Given the description of an element on the screen output the (x, y) to click on. 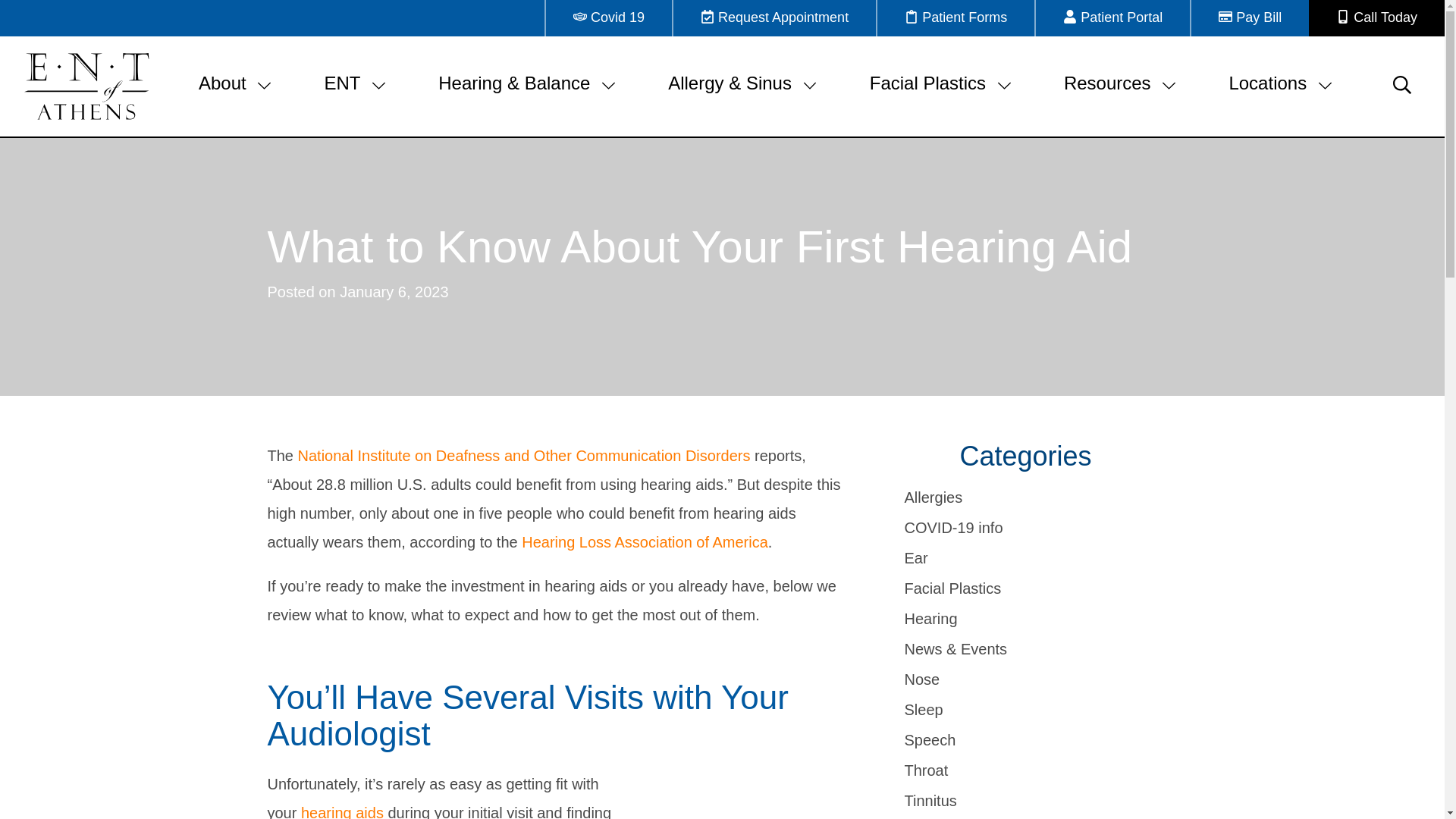
Request Appointment (773, 18)
About (236, 86)
ENT (355, 86)
Covid 19 (607, 18)
Patient Forms (954, 18)
Patient Portal (1111, 18)
Pay Bill (1248, 18)
Search Search form icon (1401, 85)
